Given the description of an element on the screen output the (x, y) to click on. 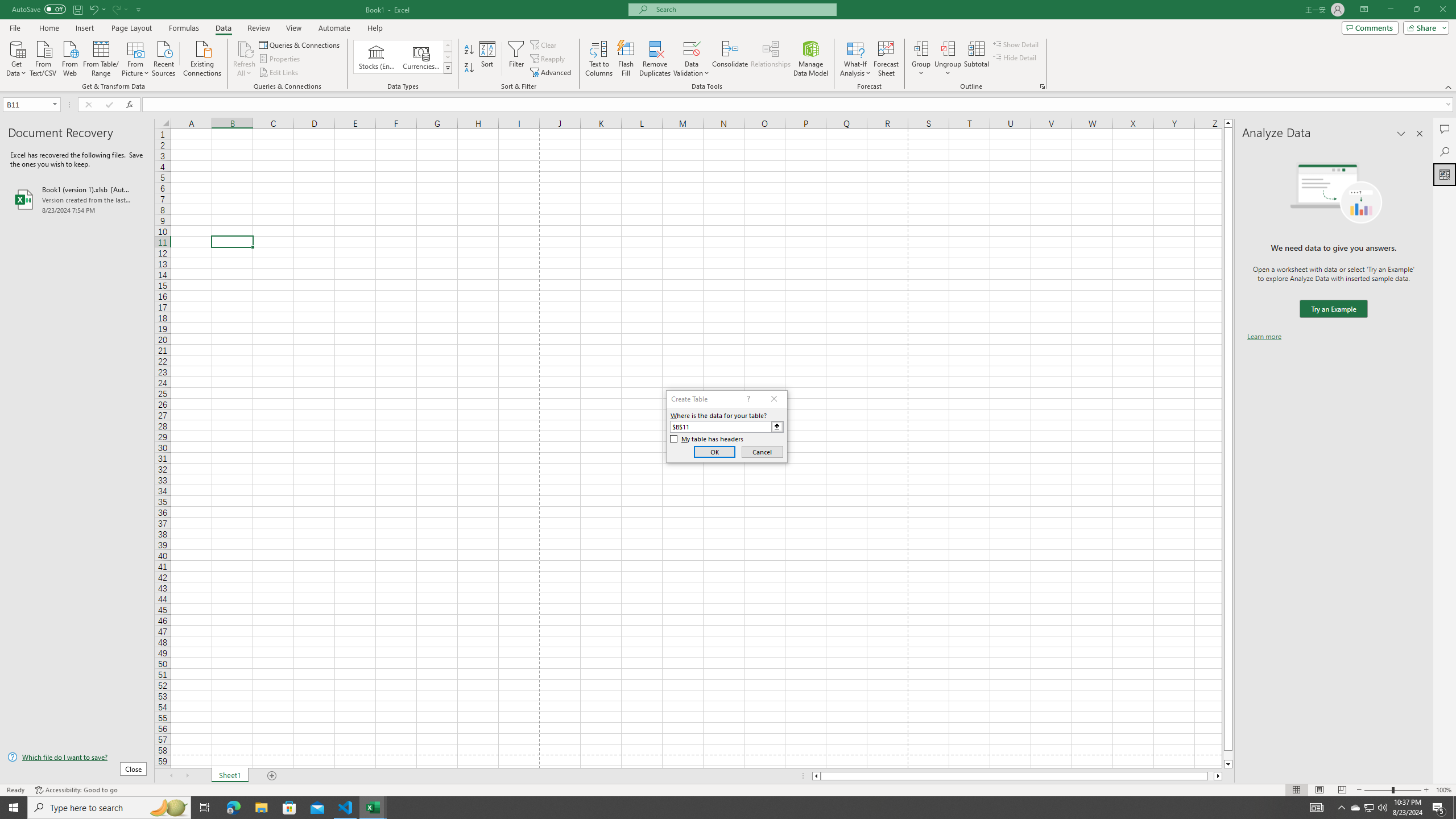
Sort A to Z (469, 49)
Currencies (English) (420, 56)
Group... (921, 48)
Restore Down (1416, 9)
Properties (280, 58)
Class: MsoCommandBar (728, 45)
We need data to give you answers. Try an Example (1333, 308)
Data Validation... (691, 58)
Consolidate... (729, 58)
Close pane (1419, 133)
